Given the description of an element on the screen output the (x, y) to click on. 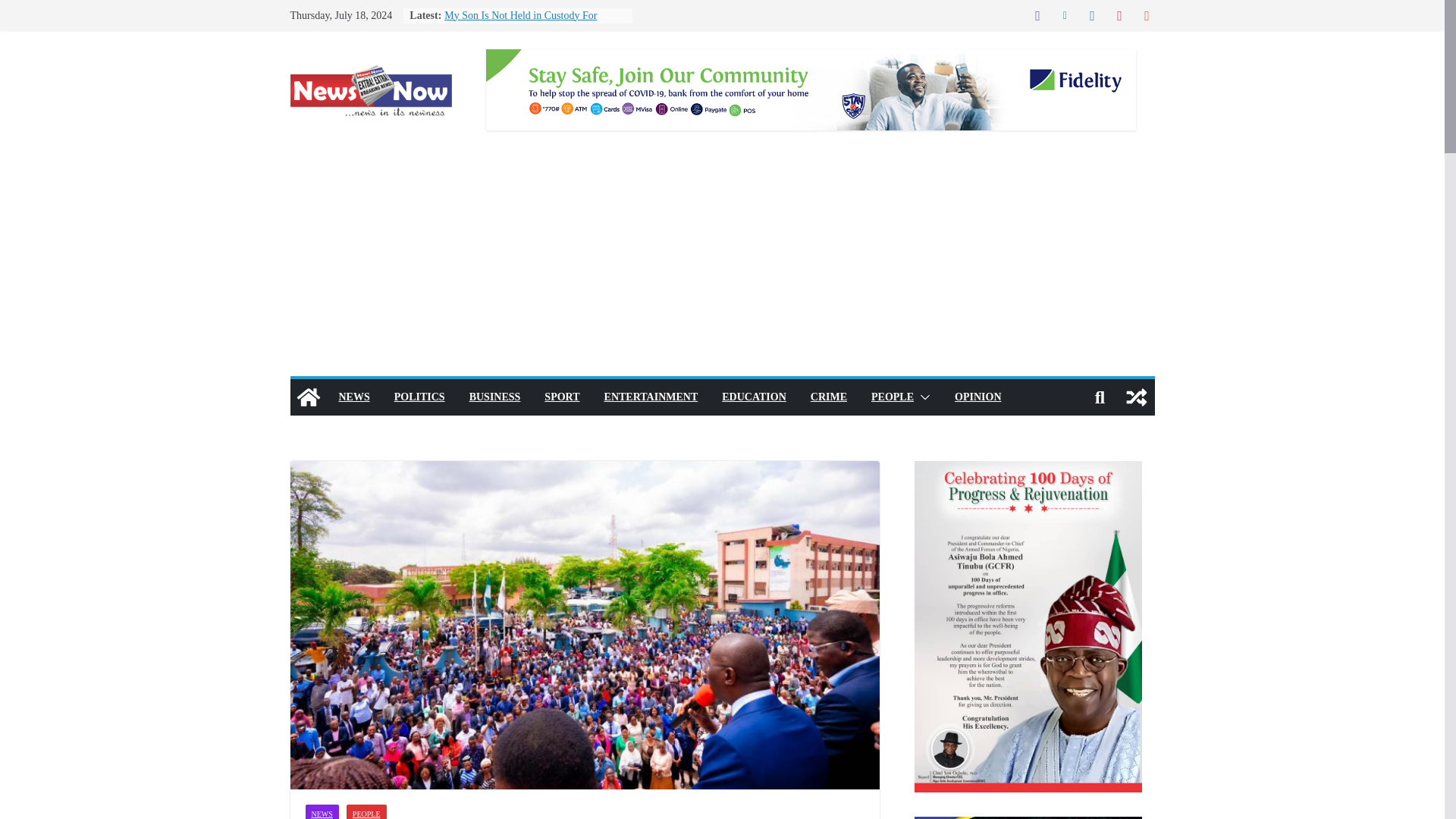
POLITICS (419, 396)
EDUCATION (754, 396)
BUSINESS (494, 396)
CRIME (828, 396)
PEOPLE (892, 396)
NEWS (353, 396)
SPORT (561, 396)
Newsnowonline (307, 397)
ENTERTAINMENT (651, 396)
PEOPLE (366, 811)
View a random post (1136, 397)
OPINION (978, 396)
NEWS (320, 811)
